Given the description of an element on the screen output the (x, y) to click on. 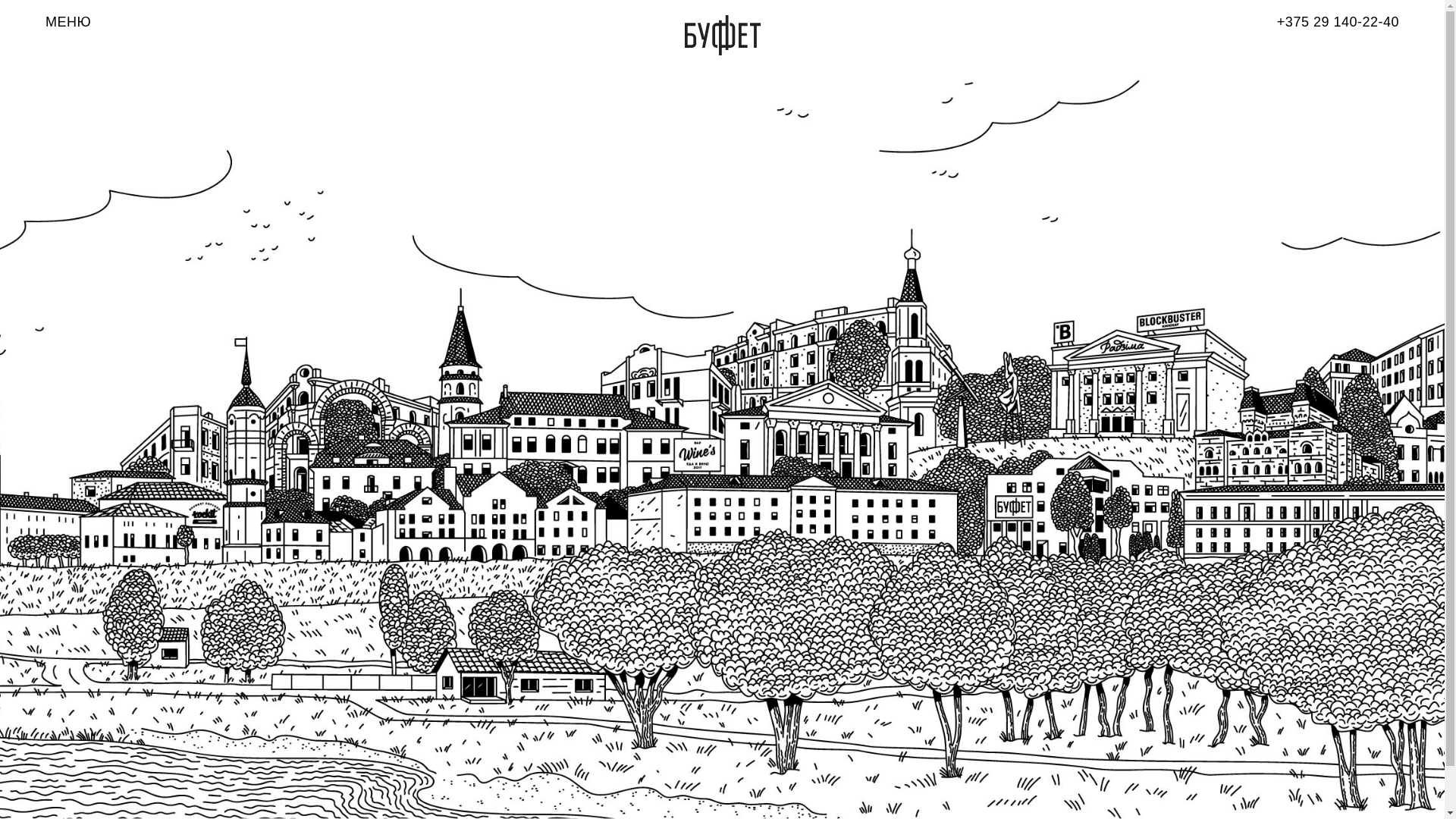
+375 29 140-22-40 Element type: text (1338, 21)
